Given the description of an element on the screen output the (x, y) to click on. 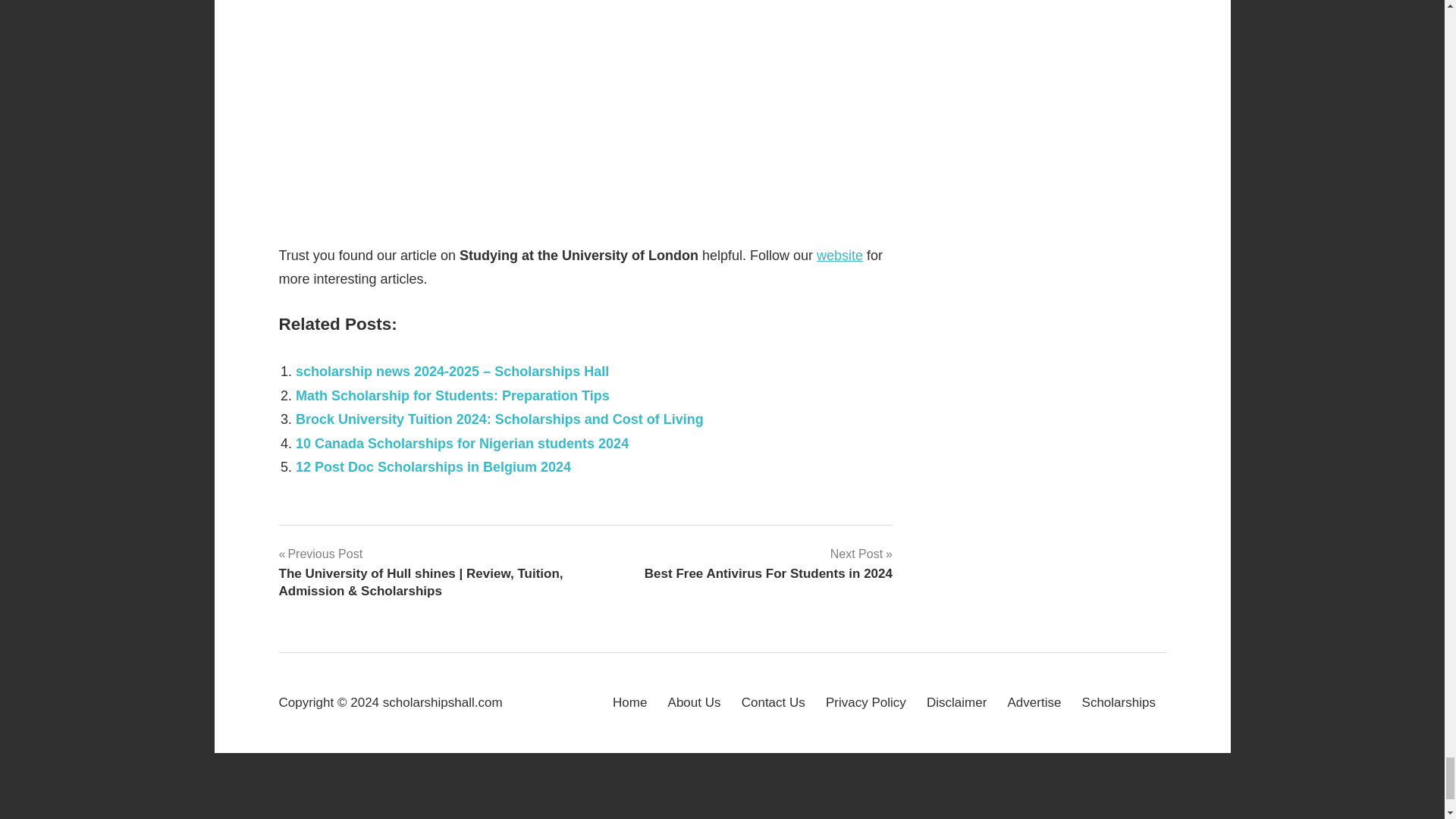
FULLY FUNDED SCHOLARSHIPS FOR INTERNATIONAL STUDENTS (586, 107)
Math Scholarship for Students: Preparation Tips (452, 395)
Math Scholarship for Students: Preparation Tips (452, 395)
10 Canada Scholarships for Nigerian students 2024 (461, 443)
website (839, 255)
